Given the description of an element on the screen output the (x, y) to click on. 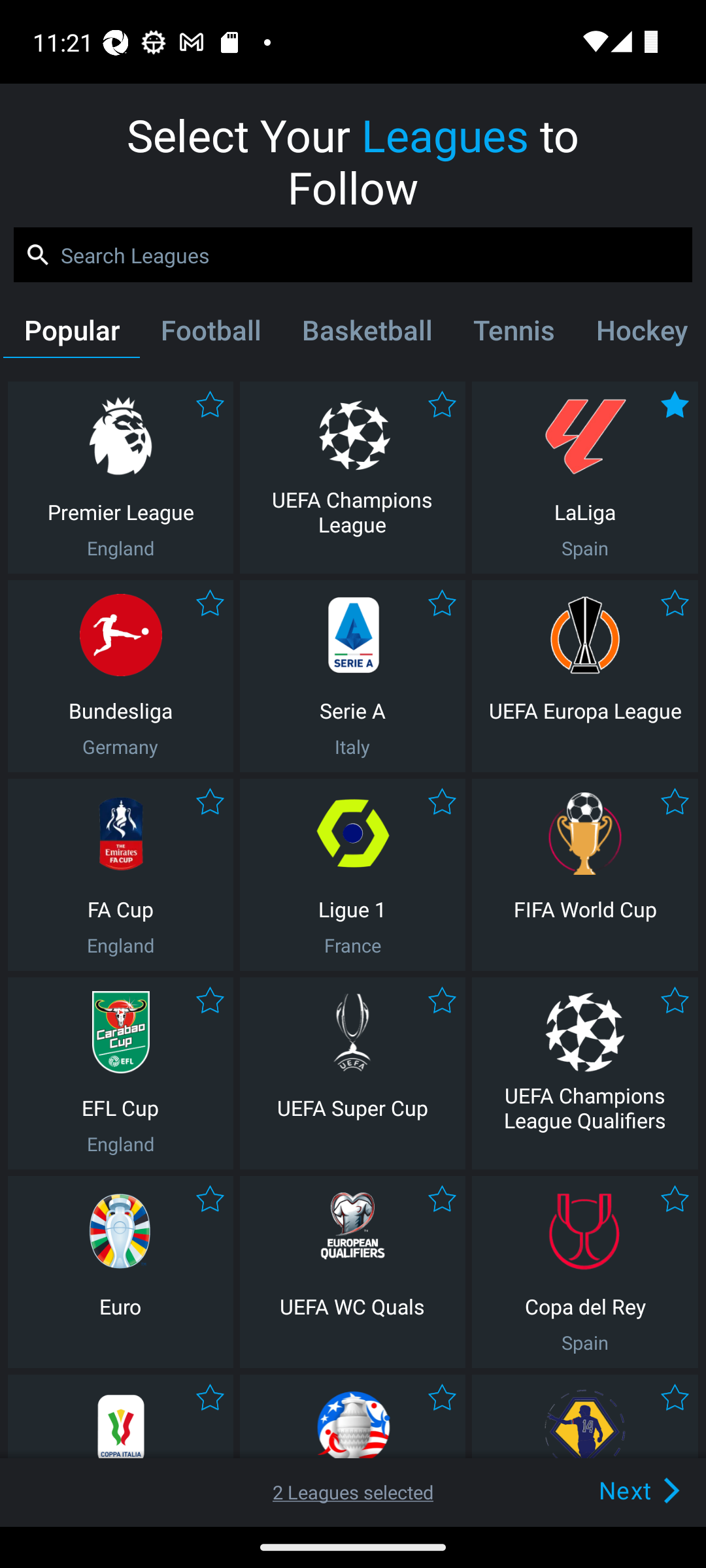
Search Leagues (352, 254)
Popular (71, 333)
Football (209, 333)
Basketball (366, 333)
Tennis (513, 333)
Hockey (638, 333)
Premier League England (120, 477)
UEFA Champions League (352, 477)
LaLiga Spain (585, 477)
Bundesliga Germany (120, 675)
Serie A Italy (352, 675)
UEFA Europa League (585, 675)
FA Cup England (120, 874)
Ligue 1 France (352, 874)
FIFA World Cup (585, 874)
EFL Cup England (120, 1072)
UEFA Super Cup (352, 1072)
UEFA Champions League Qualifiers (585, 1072)
Euro (120, 1271)
UEFA WC Quals (352, 1271)
Copa del Rey Spain (585, 1271)
Next (609, 1489)
2 Leagues selected (352, 1491)
